Given the description of an element on the screen output the (x, y) to click on. 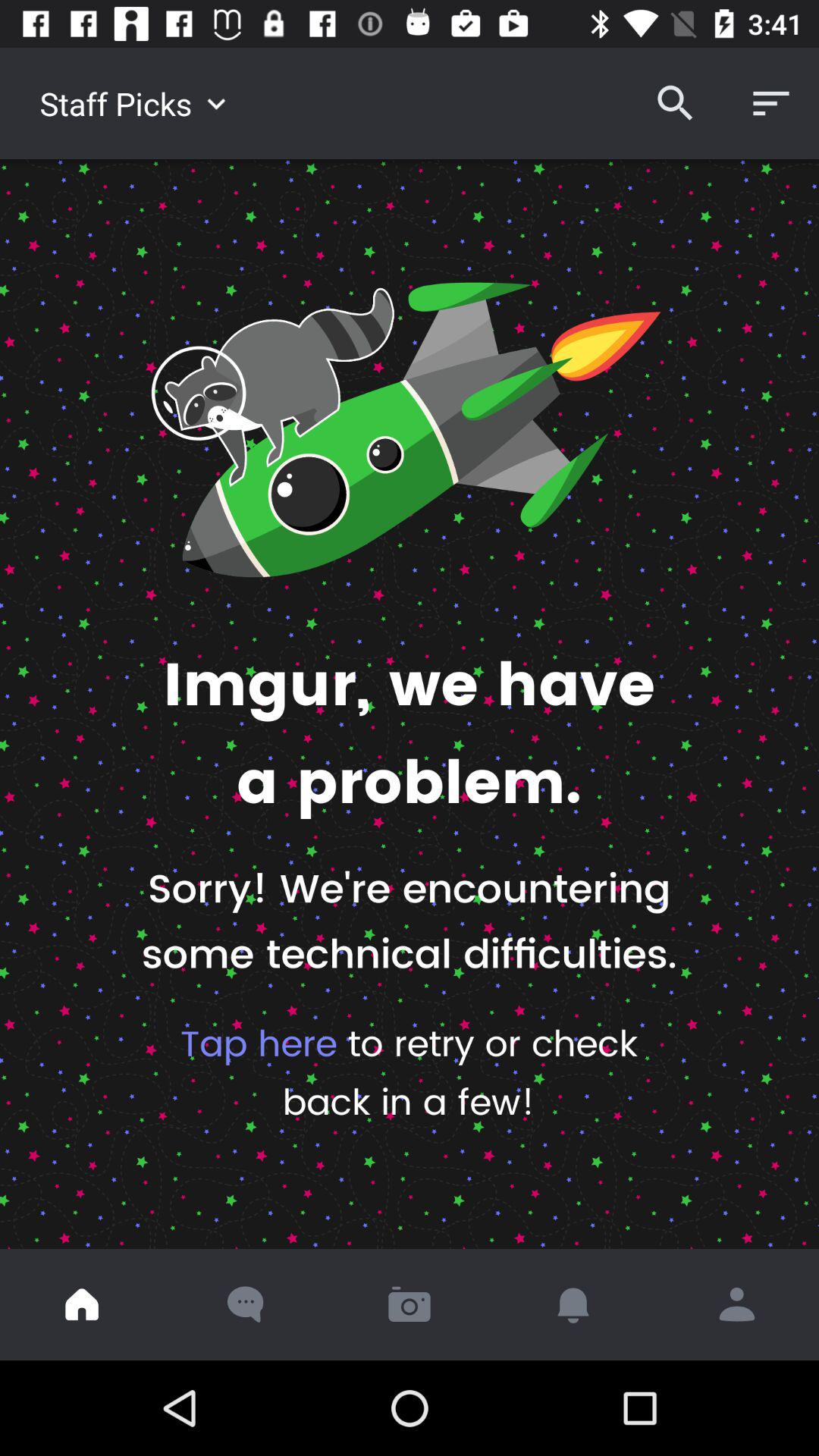
press the item below tap here to (409, 1304)
